Given the description of an element on the screen output the (x, y) to click on. 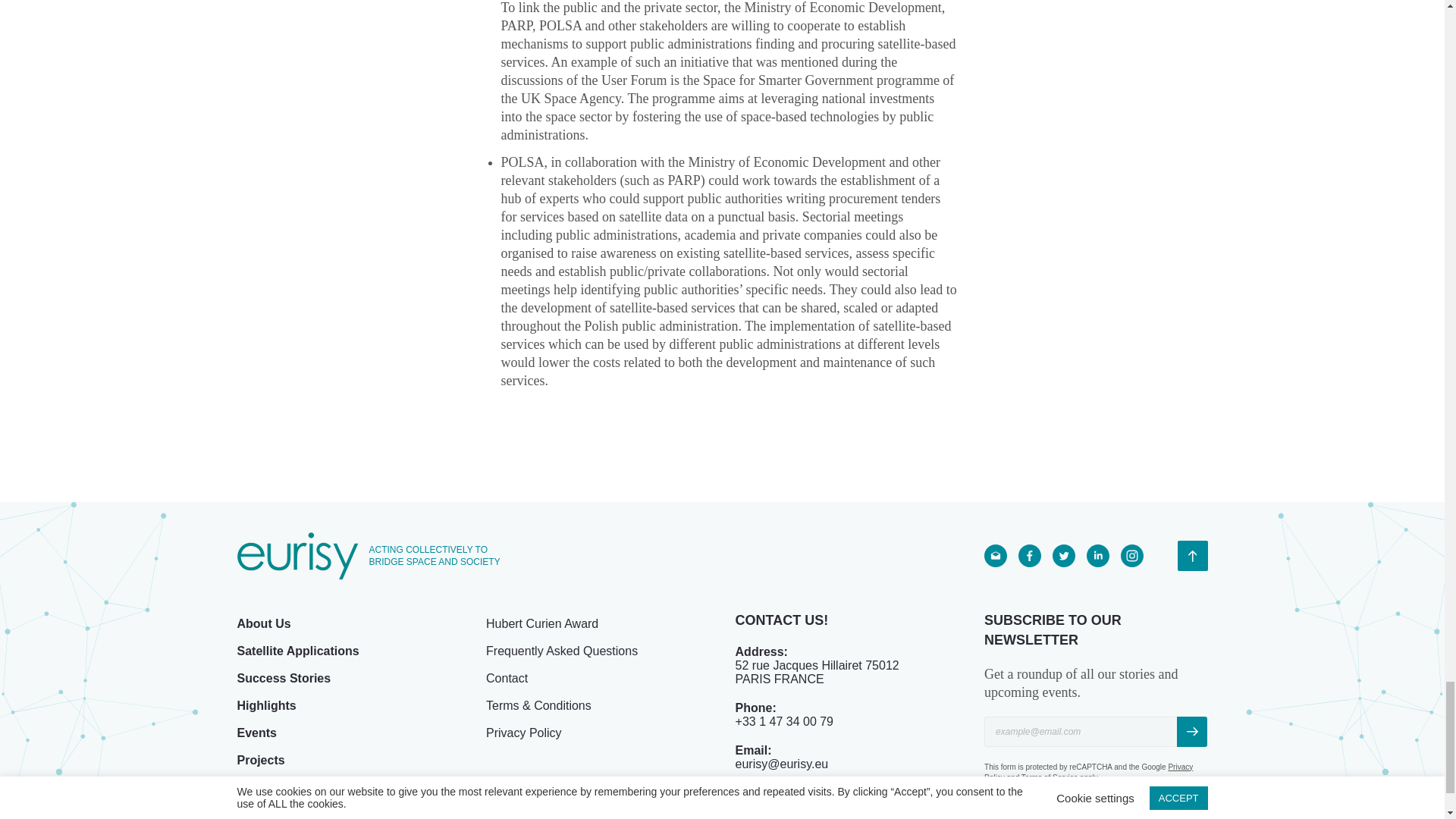
Reports (258, 787)
Highlights (265, 705)
Privacy Policy (524, 733)
Frequently Asked Questions (561, 651)
Projects (259, 760)
ACTING COLLECTIVELY TO BRIDGE SPACE AND SOCIETY (375, 555)
Events (255, 733)
Privacy Policy (1088, 772)
Hubert Curien Award (542, 623)
Satellite Applications (296, 651)
Terms of Service apply (1059, 777)
Success Stories (282, 678)
About Us (262, 623)
Contact (506, 678)
